Given the description of an element on the screen output the (x, y) to click on. 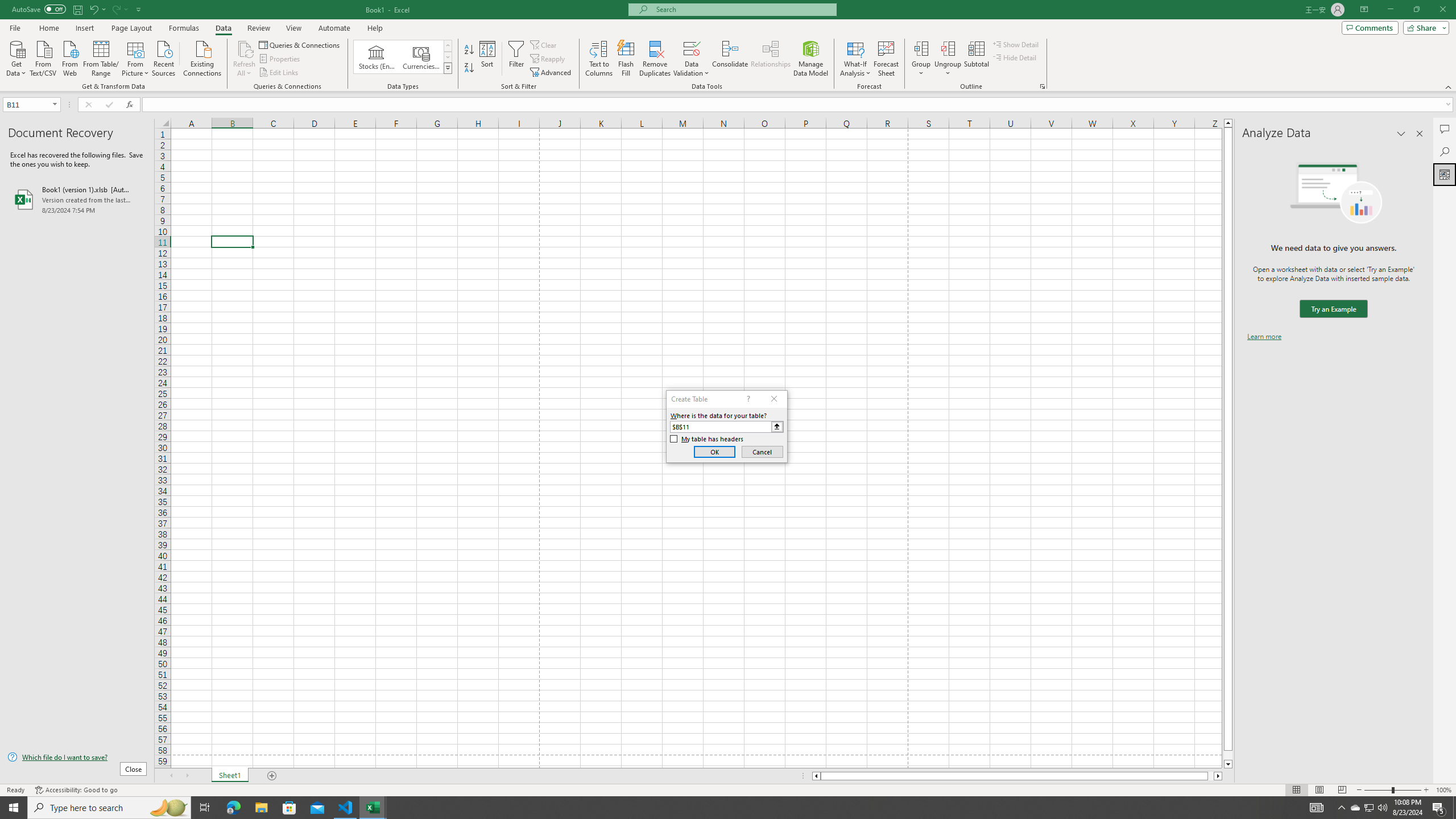
Relationships (770, 58)
